Given the description of an element on the screen output the (x, y) to click on. 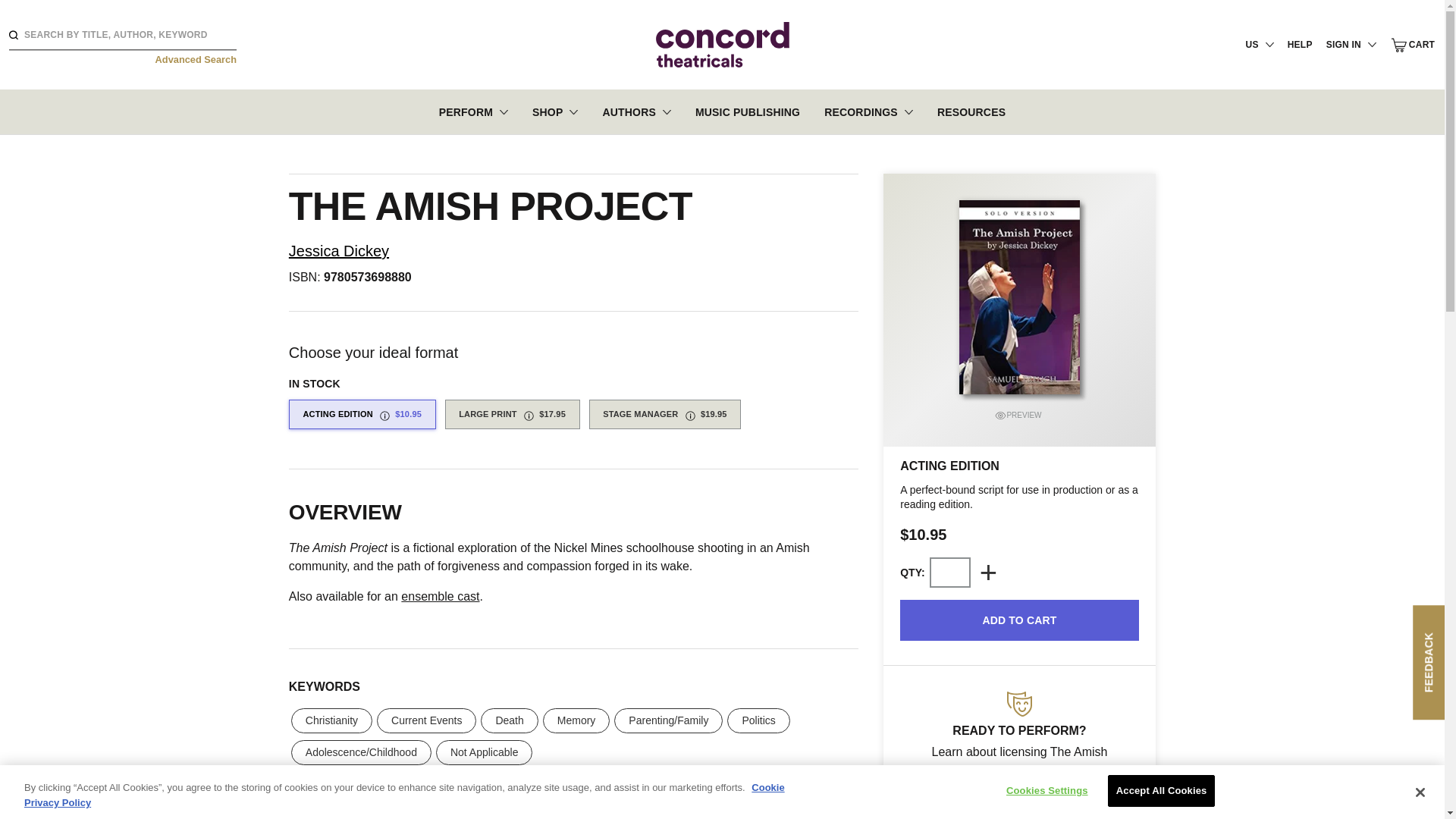
SubGenre (1018, 704)
Advanced Search (195, 59)
RECORDINGS (868, 110)
HELP (1300, 44)
Sign In (1302, 268)
SIGN IN (1350, 44)
MUSIC PUBLISHING (747, 110)
Advanced Search (195, 59)
CART (1412, 44)
Header logo (722, 44)
PERFORM (473, 110)
SHOP (555, 110)
AUTHORS (635, 110)
Sample PDF (1019, 415)
US (1260, 44)
